Given the description of an element on the screen output the (x, y) to click on. 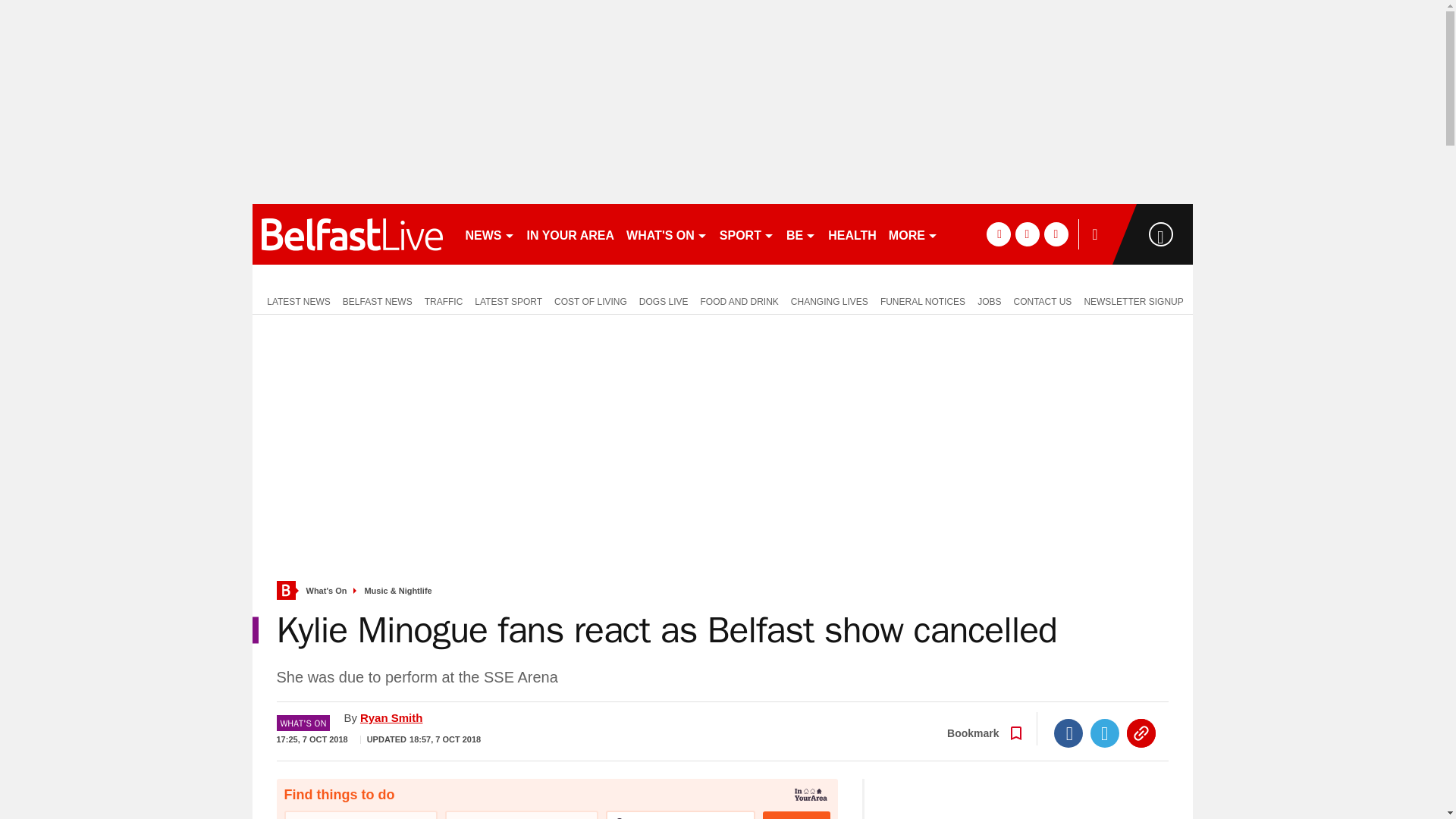
NEWS (490, 233)
IN YOUR AREA (569, 233)
twitter (1026, 233)
instagram (1055, 233)
WHAT'S ON (666, 233)
SPORT (746, 233)
Twitter (1104, 733)
Facebook (1068, 733)
facebook (997, 233)
belfastlive (351, 233)
